Given the description of an element on the screen output the (x, y) to click on. 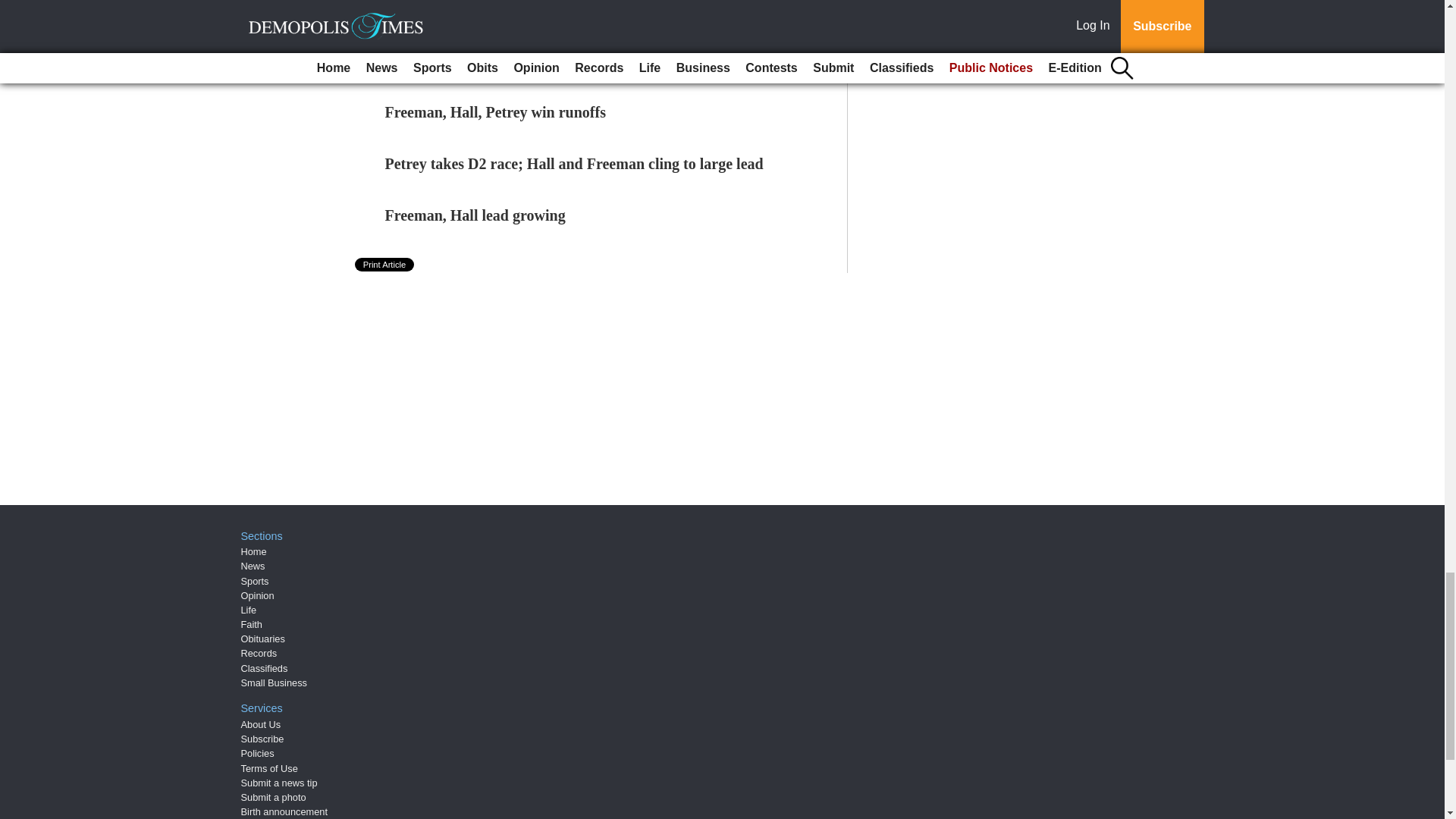
Freeman, Hall lead growing (475, 215)
Petrey takes D2 race; Hall and Freeman cling to large lead (573, 163)
Petrey takes D2 race; Hall and Freeman cling to large lead (573, 163)
Freeman, Hall, Petrey win runoffs (495, 112)
Freeman, Hall lead growing (475, 215)
Print Article (384, 264)
Freeman, Hall, Petrey win runoffs (495, 112)
